Given the description of an element on the screen output the (x, y) to click on. 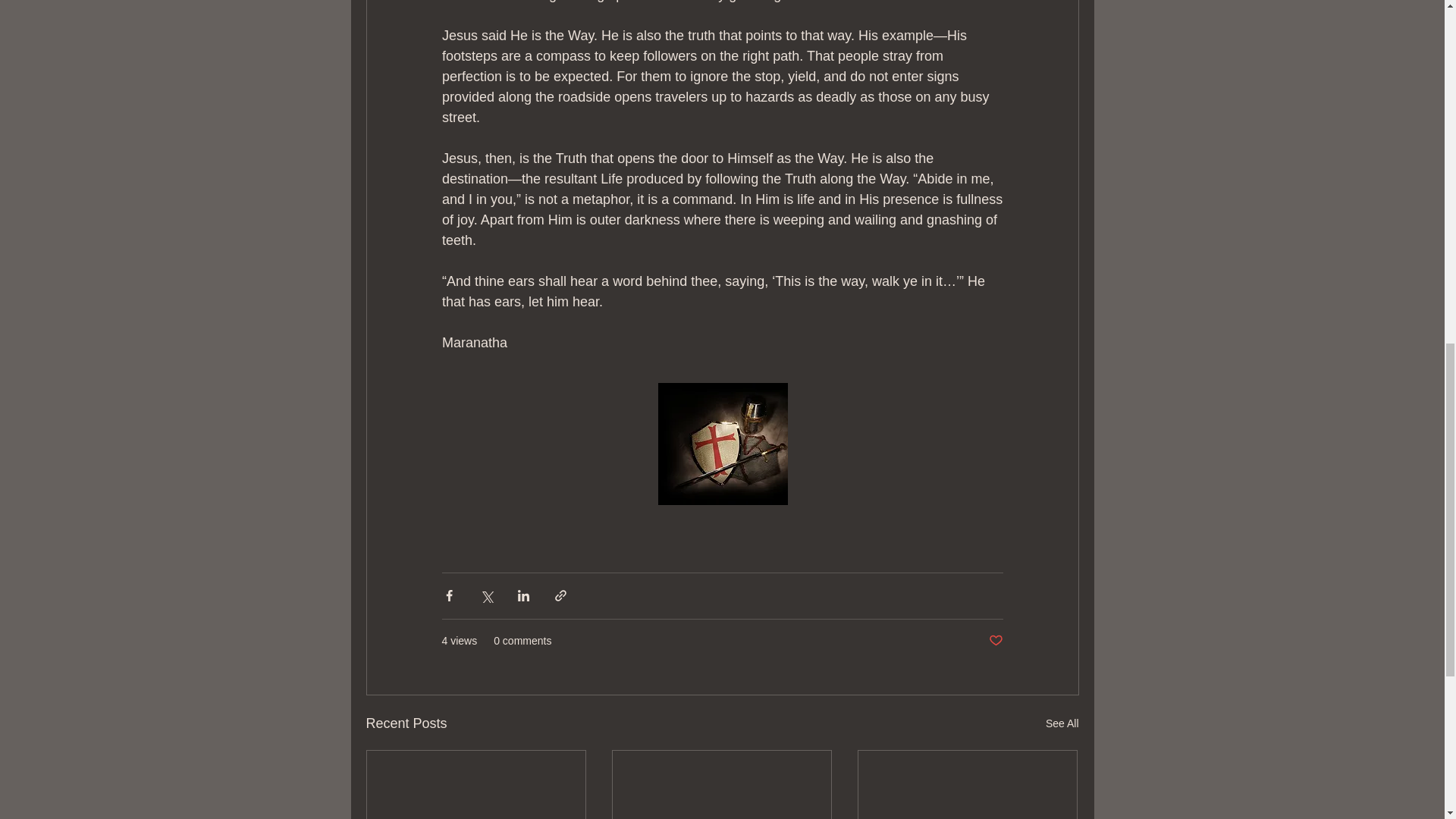
Post not marked as liked (995, 640)
See All (1061, 723)
